Given the description of an element on the screen output the (x, y) to click on. 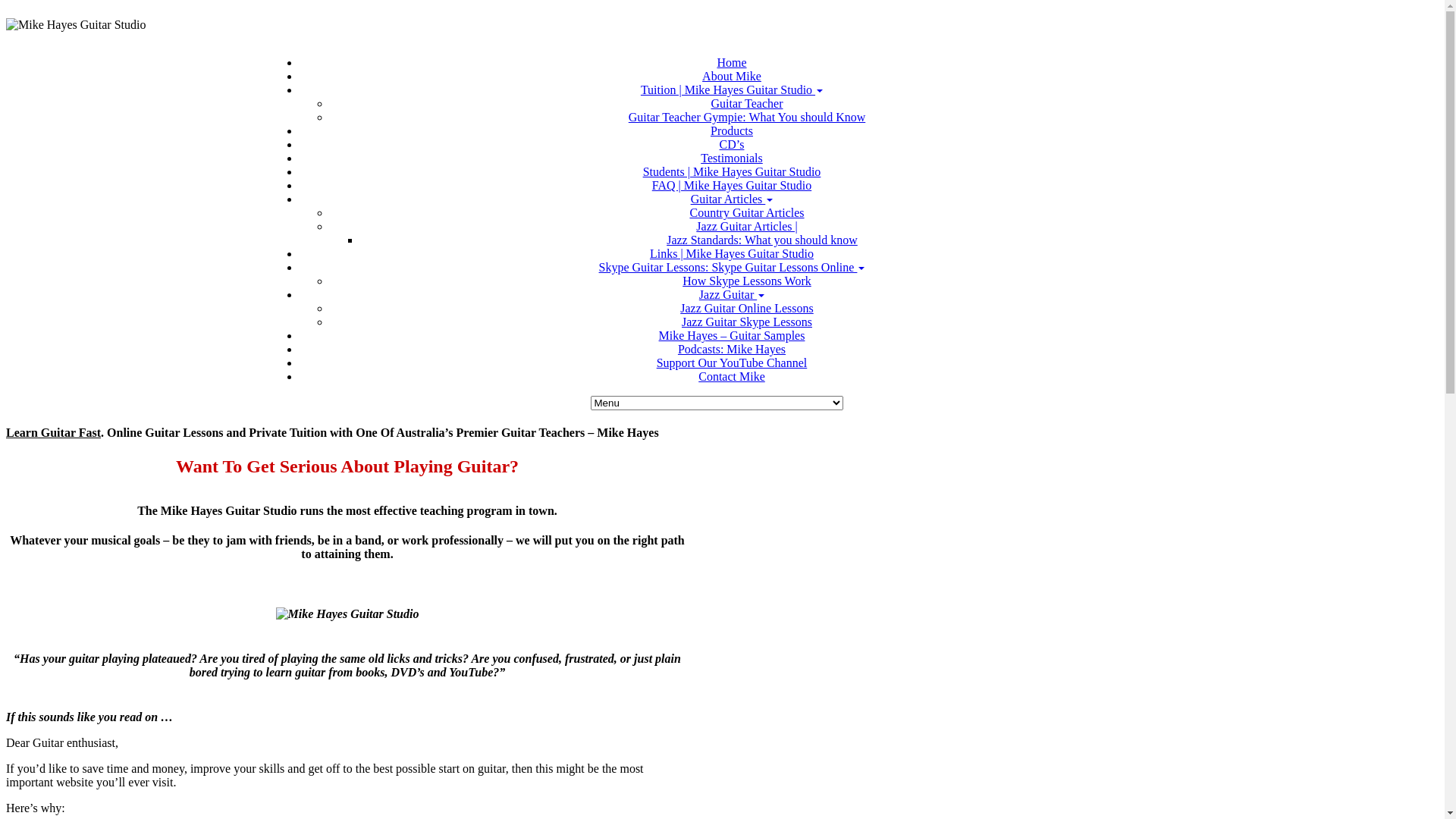
Jazz Guitar Element type: text (731, 294)
Jazz Guitar Skype Lessons Element type: text (746, 321)
Home Element type: text (731, 62)
Country Guitar Articles Element type: text (746, 212)
Links | Mike Hayes Guitar Studio Element type: text (731, 253)
Skype Guitar Lessons: Skype Guitar Lessons Online Element type: text (732, 266)
About Mike Element type: text (731, 75)
Products Element type: text (731, 130)
Support Our YouTube Channel Element type: text (731, 362)
Jazz Guitar Online Lessons Element type: text (746, 307)
FAQ | Mike Hayes Guitar Studio Element type: text (731, 184)
Guitar Teacher Gympie: What You should Know Element type: text (746, 116)
Tuition | Mike Hayes Guitar Studio Element type: text (731, 89)
How Skype Lessons Work Element type: text (746, 280)
Guitar Articles Element type: text (731, 198)
Students | Mike Hayes Guitar Studio Element type: text (732, 171)
Guitar Teacher Element type: text (747, 103)
Jazz Standards: What you should know Element type: text (761, 239)
Contact Mike Element type: text (731, 376)
Podcasts: Mike Hayes Element type: text (731, 348)
Testimonials Element type: text (731, 157)
Jazz Guitar Articles | Element type: text (746, 225)
